Given the description of an element on the screen output the (x, y) to click on. 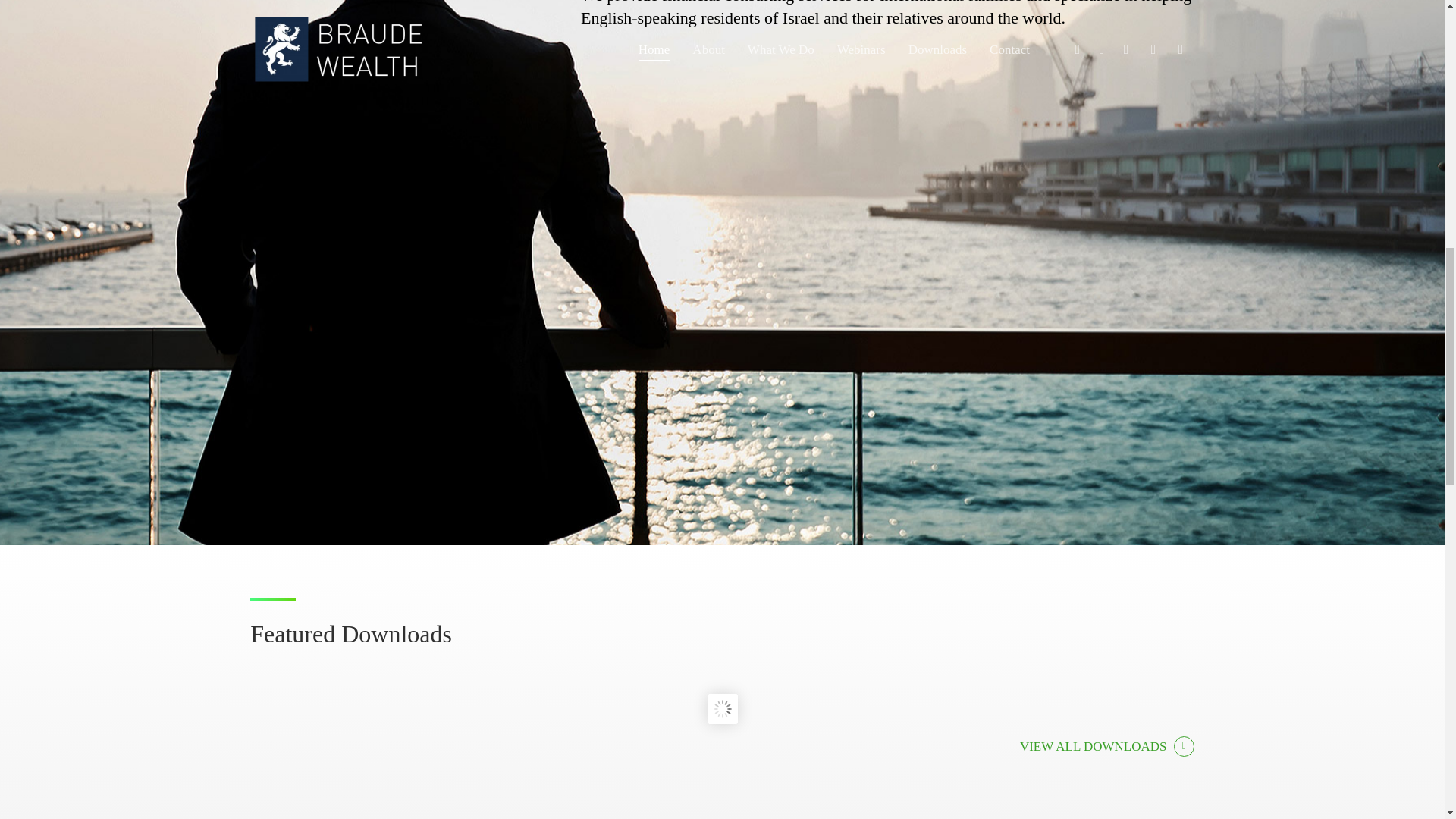
VIEW ALL DOWNLOADS (1106, 746)
